Given the description of an element on the screen output the (x, y) to click on. 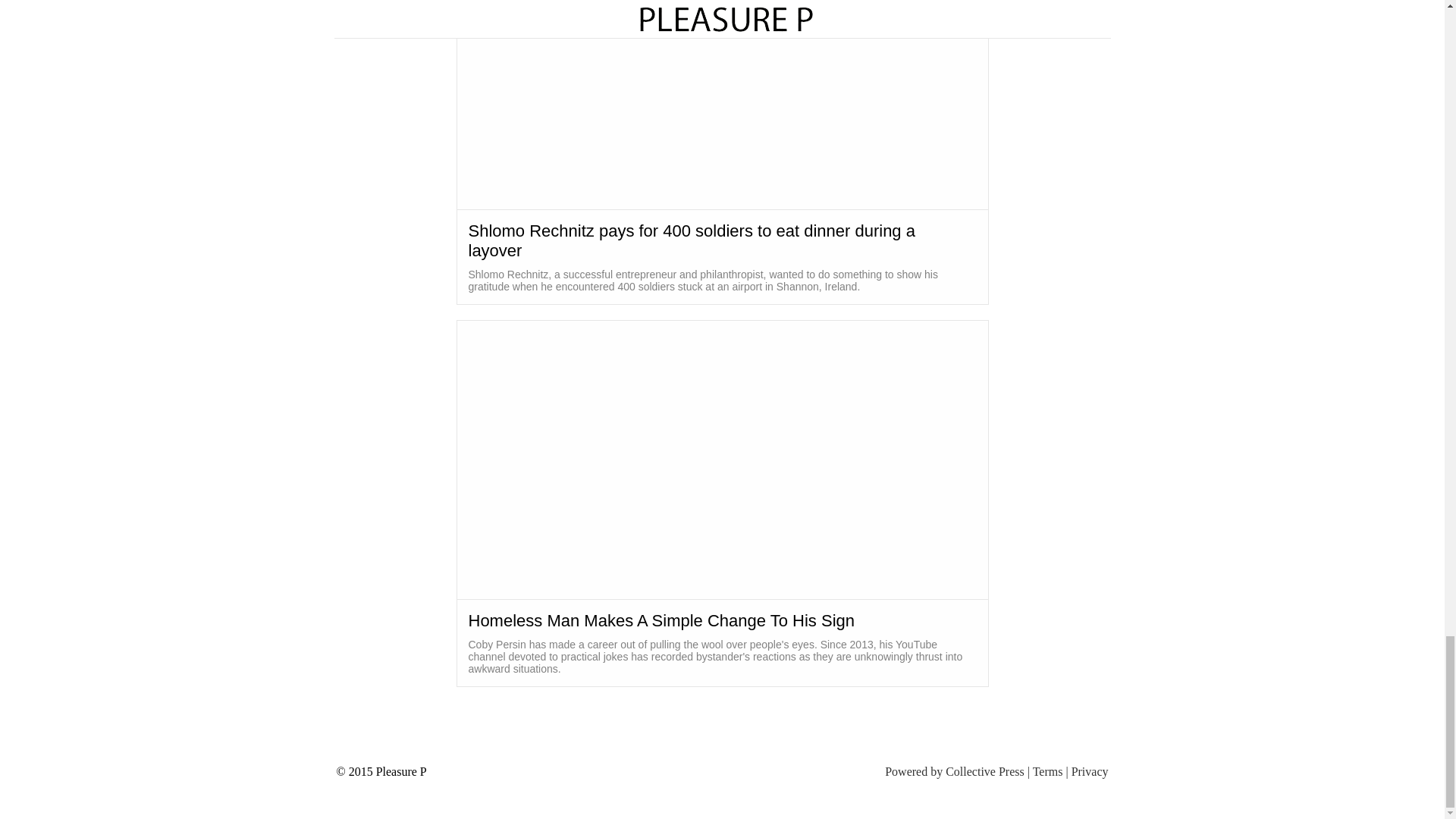
Privacy (1089, 771)
Terms (1047, 771)
Collective Press (984, 771)
